Given the description of an element on the screen output the (x, y) to click on. 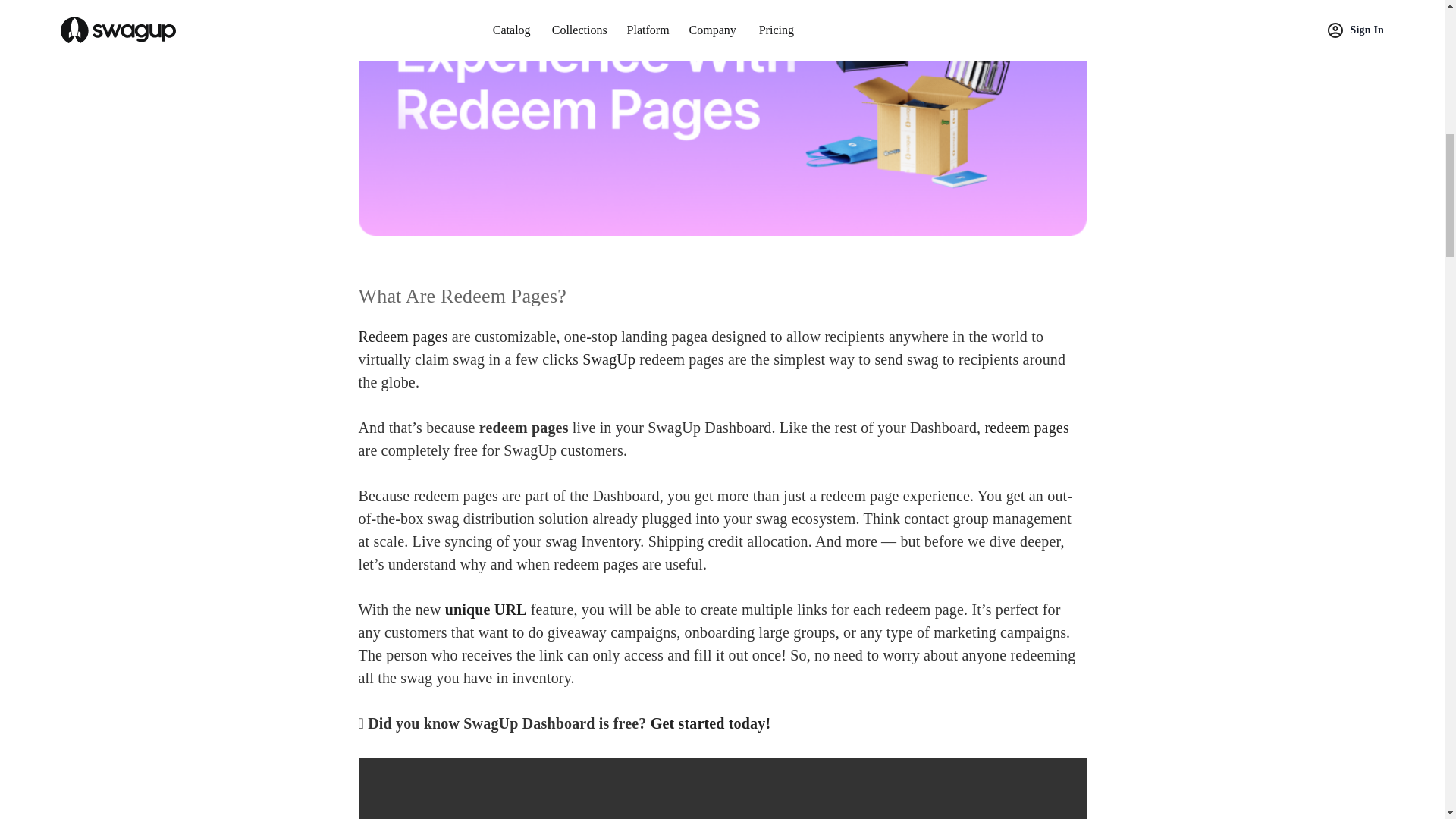
Get started today! (710, 723)
unique URL (486, 609)
SwagUp (610, 359)
redeem pages (1026, 427)
Redeem pages (402, 336)
